Given the description of an element on the screen output the (x, y) to click on. 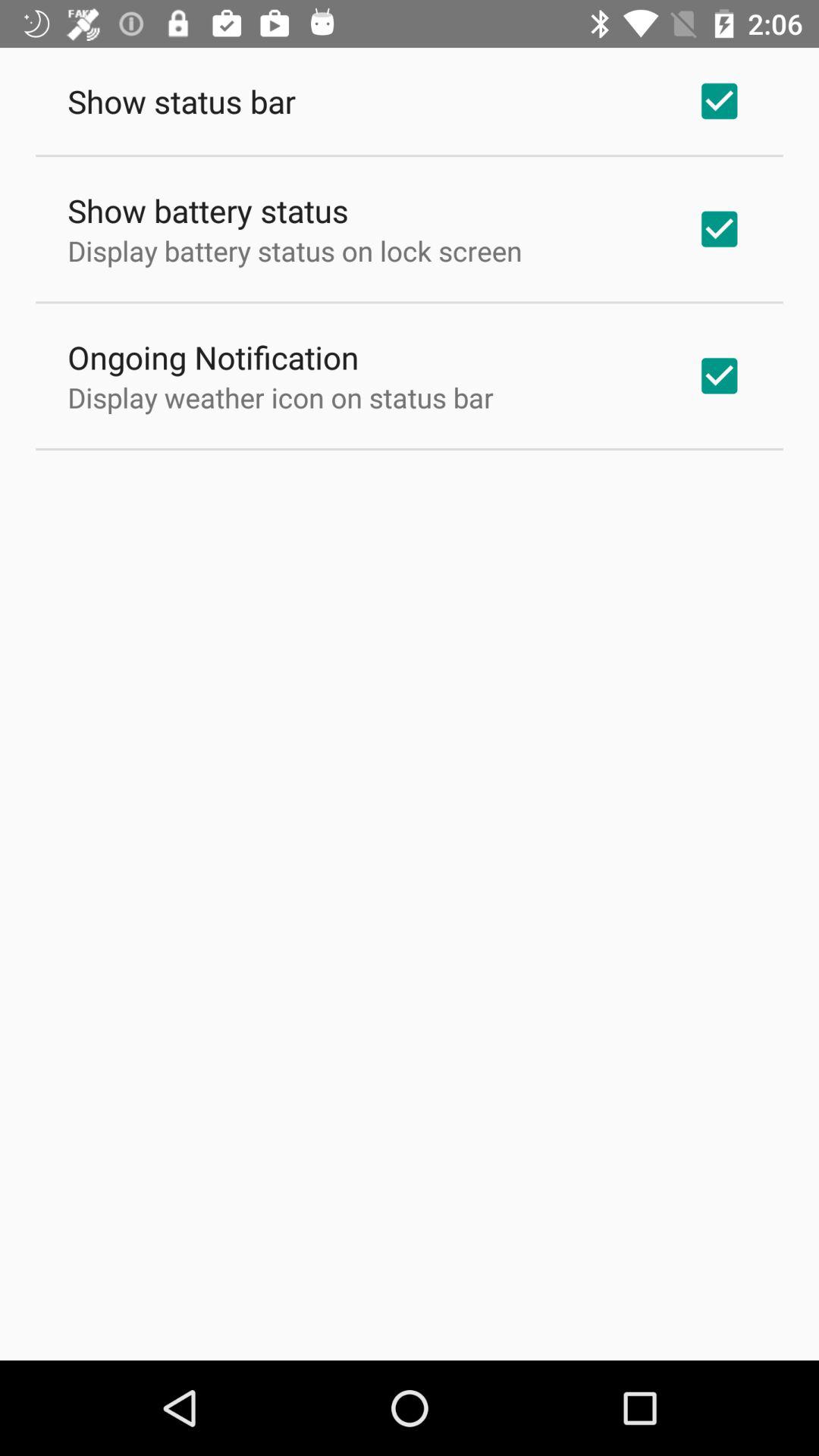
jump to the ongoing notification item (212, 356)
